Given the description of an element on the screen output the (x, y) to click on. 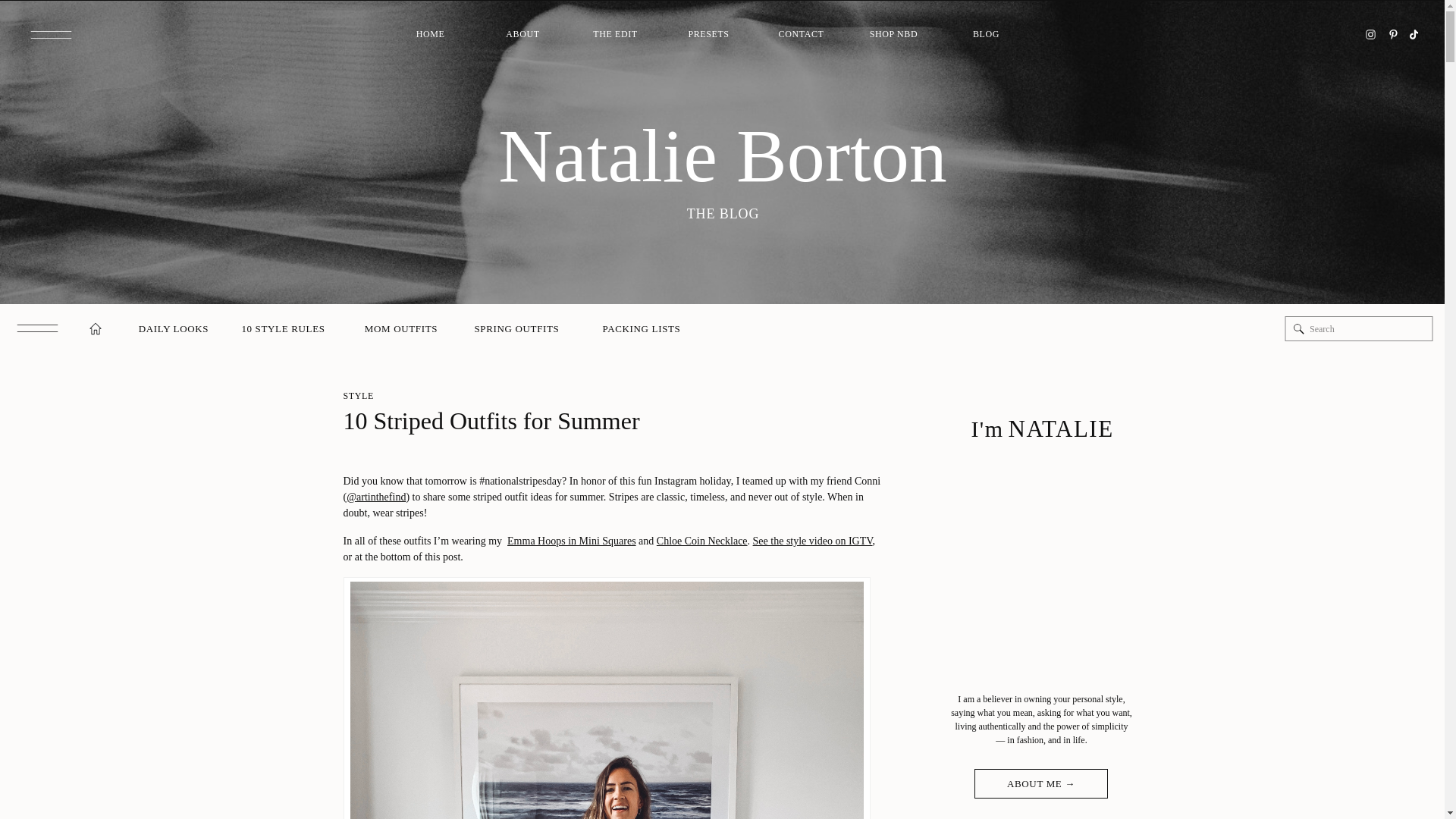
Natalie Borton (722, 155)
SHOP NBD (892, 35)
THE BLOG (722, 213)
HOME (430, 35)
CONTACT (800, 35)
ABOUT (522, 35)
BLOG (985, 35)
THE EDIT (615, 35)
MOM OUTFITS (401, 328)
PRESETS (707, 35)
